Given the description of an element on the screen output the (x, y) to click on. 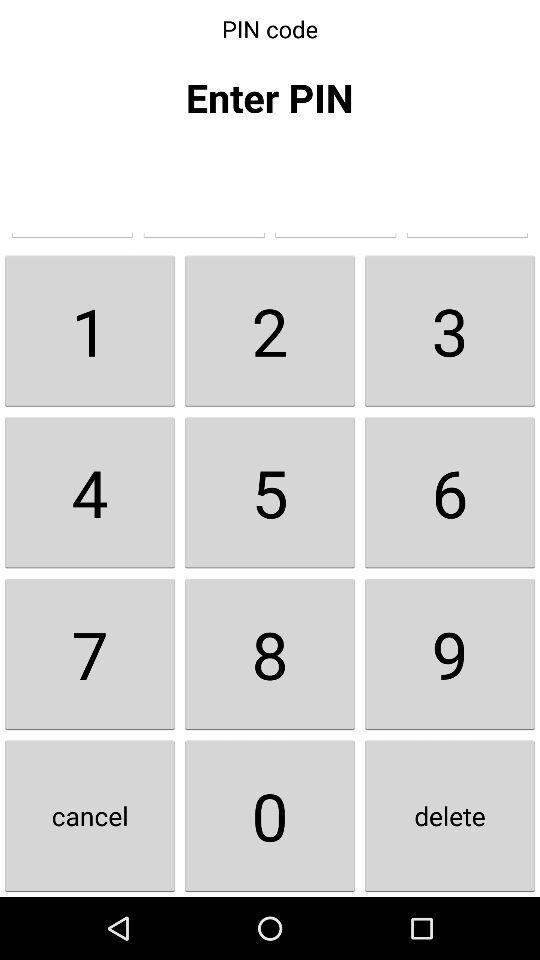
swipe to the 1 item (90, 330)
